Given the description of an element on the screen output the (x, y) to click on. 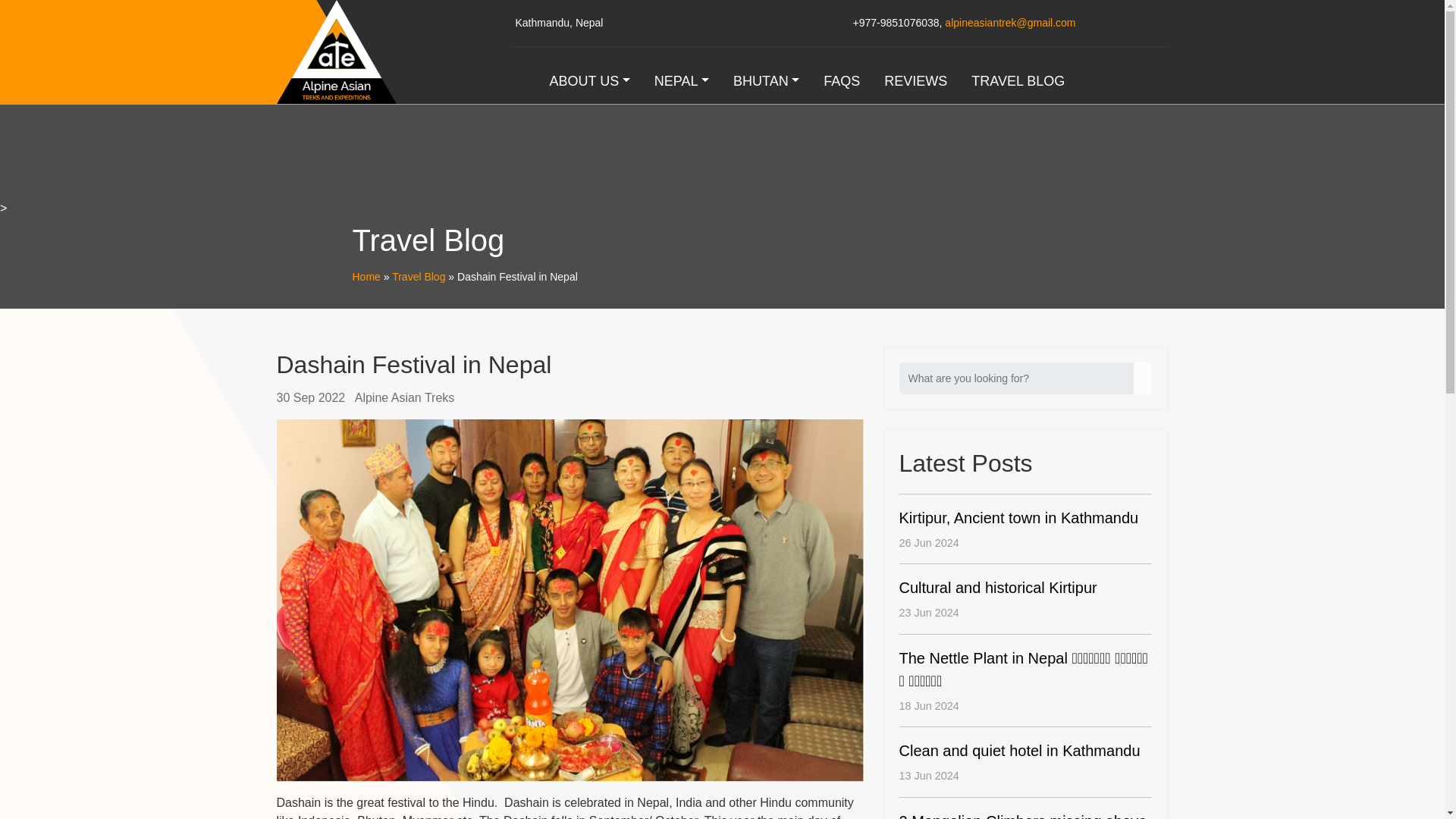
BHUTAN (765, 81)
ABOUT US (589, 81)
REVIEWS (915, 81)
TRAVEL BLOG (1018, 81)
FAQS (841, 81)
NEPAL (681, 81)
